Given the description of an element on the screen output the (x, y) to click on. 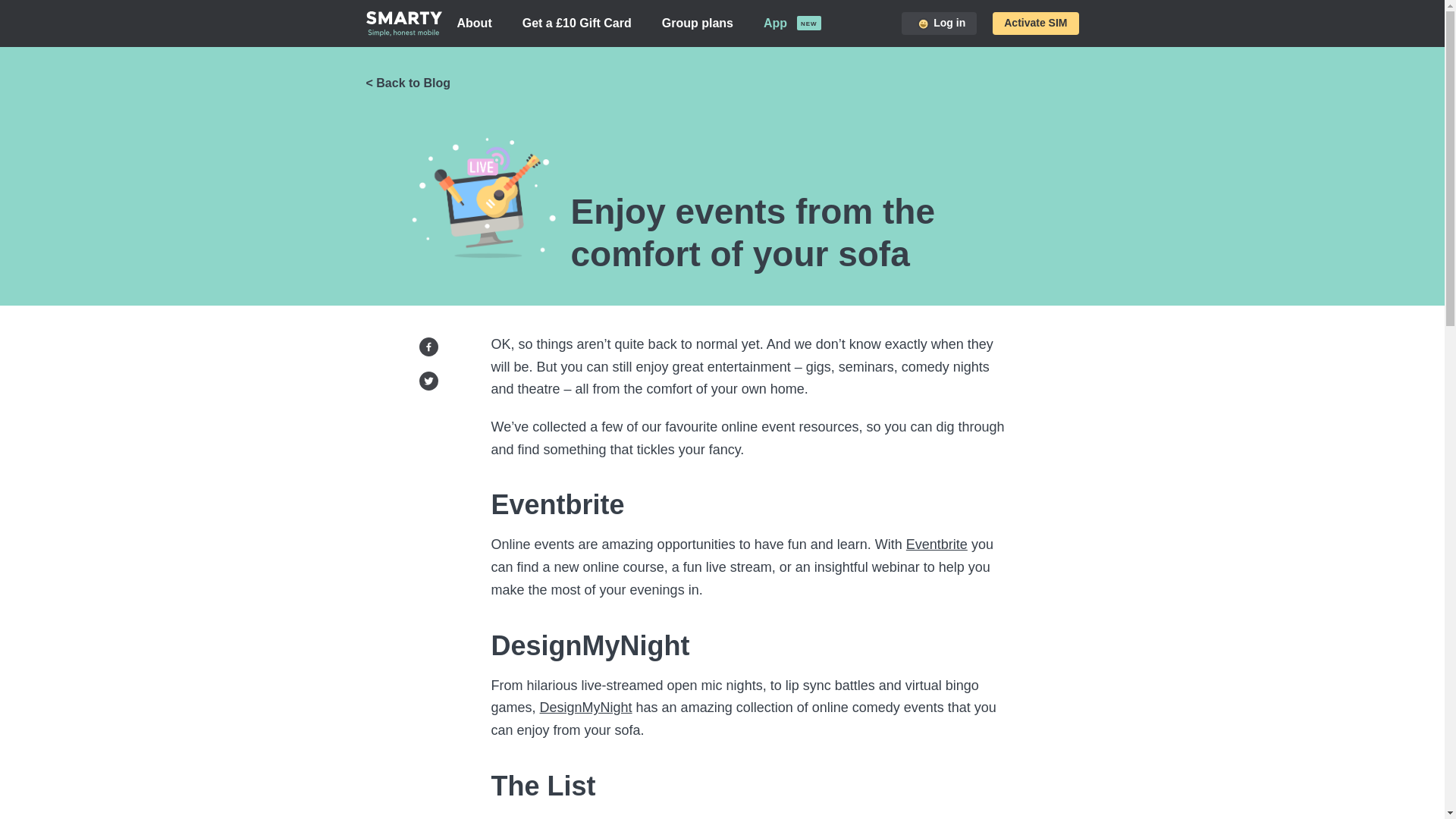
About (473, 24)
App (775, 24)
DesignMyNight (585, 707)
Home (403, 23)
Group plans (697, 24)
Activate SIM (1035, 23)
Eventbrite (936, 544)
The List (516, 818)
Log in (938, 23)
